Given the description of an element on the screen output the (x, y) to click on. 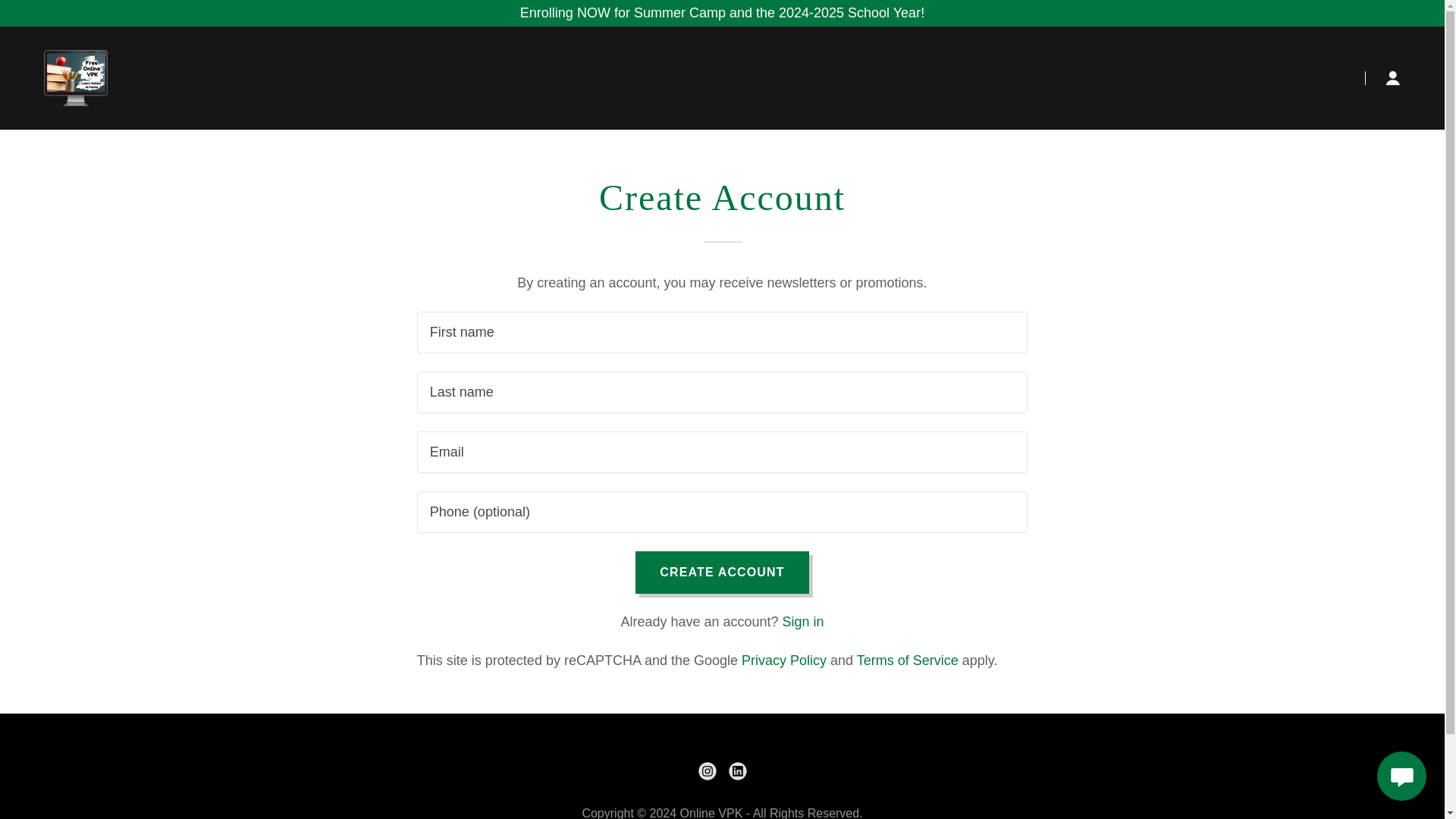
Terms of Service (907, 660)
Free Online VPK (75, 77)
Sign in (803, 621)
Privacy Policy (784, 660)
CREATE ACCOUNT (721, 572)
